Given the description of an element on the screen output the (x, y) to click on. 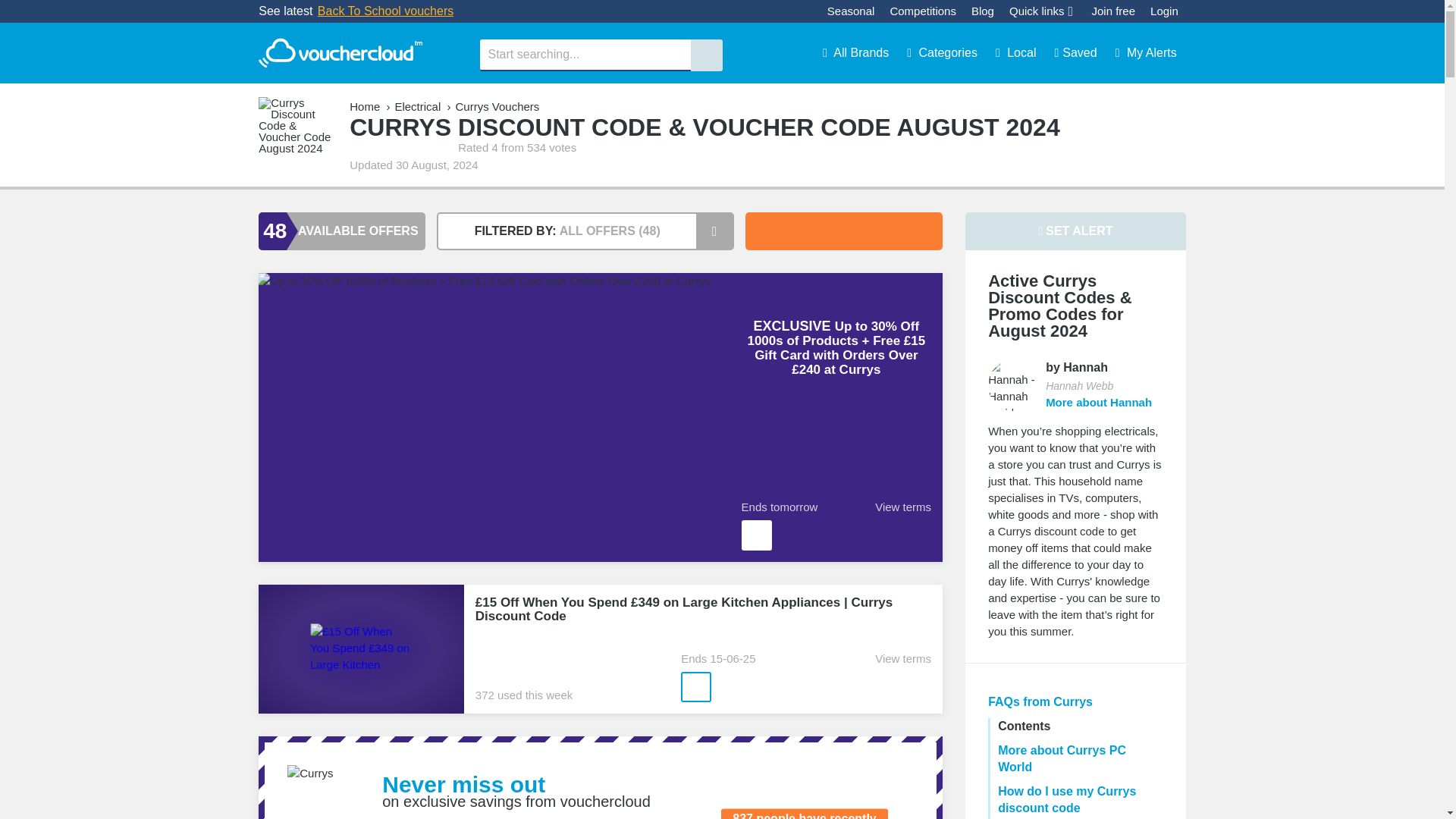
SEARCH (706, 55)
vouchercloud (340, 52)
